Given the description of an element on the screen output the (x, y) to click on. 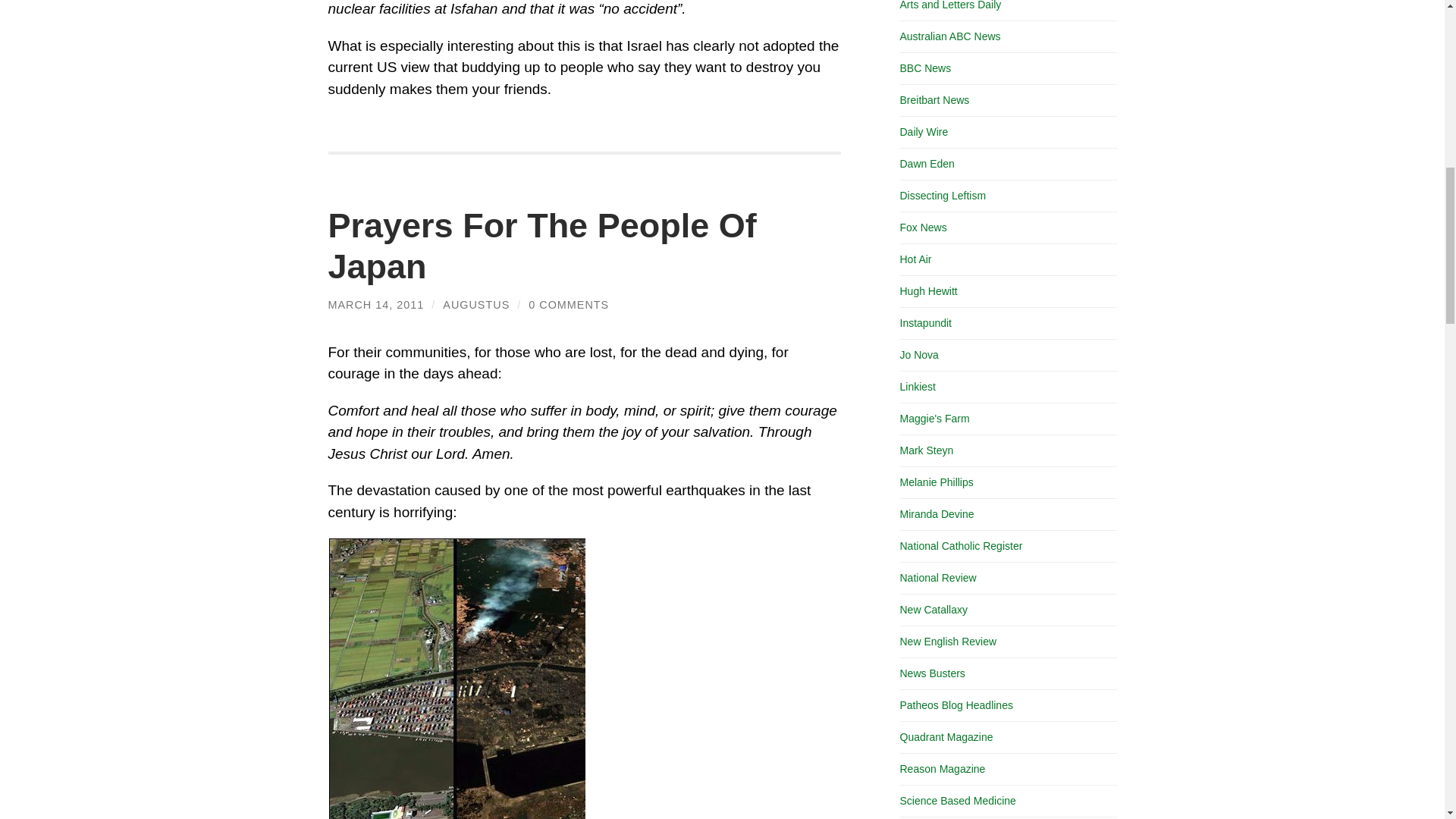
The essential blog for up to the minute commentary. (925, 322)
Controversial, informative, interesting, fun (923, 132)
Breitbart News (934, 100)
News. From the UK. Nearly as bad as the ABC. (924, 68)
Dissecting Leftism (942, 195)
Linkiest (916, 386)
BBC News (924, 68)
Hugh Hewitt (927, 291)
